Given the description of an element on the screen output the (x, y) to click on. 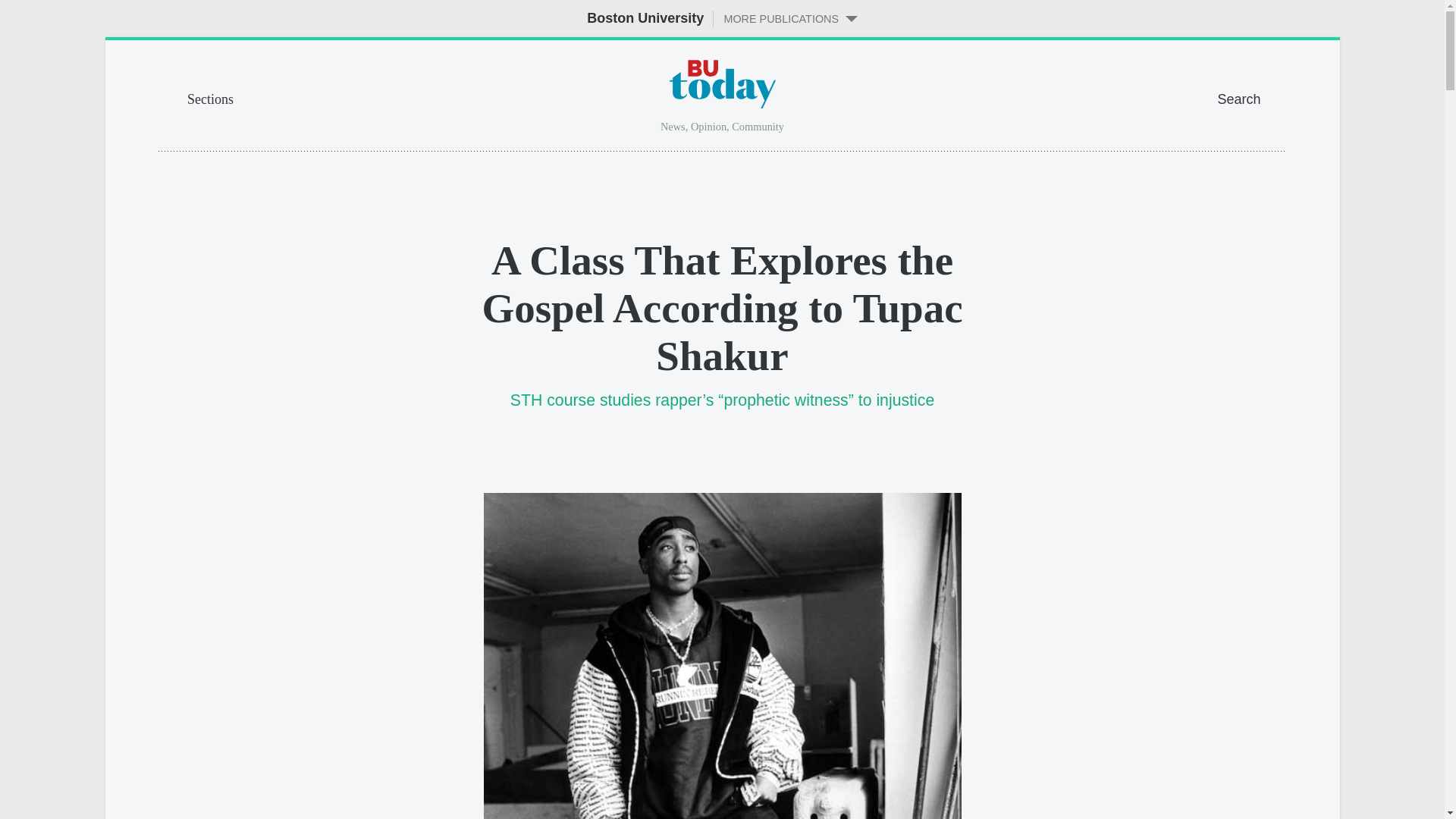
Sections (298, 96)
MORE PUBLICATIONS (785, 18)
Boston University (644, 18)
Search (1251, 96)
